Given the description of an element on the screen output the (x, y) to click on. 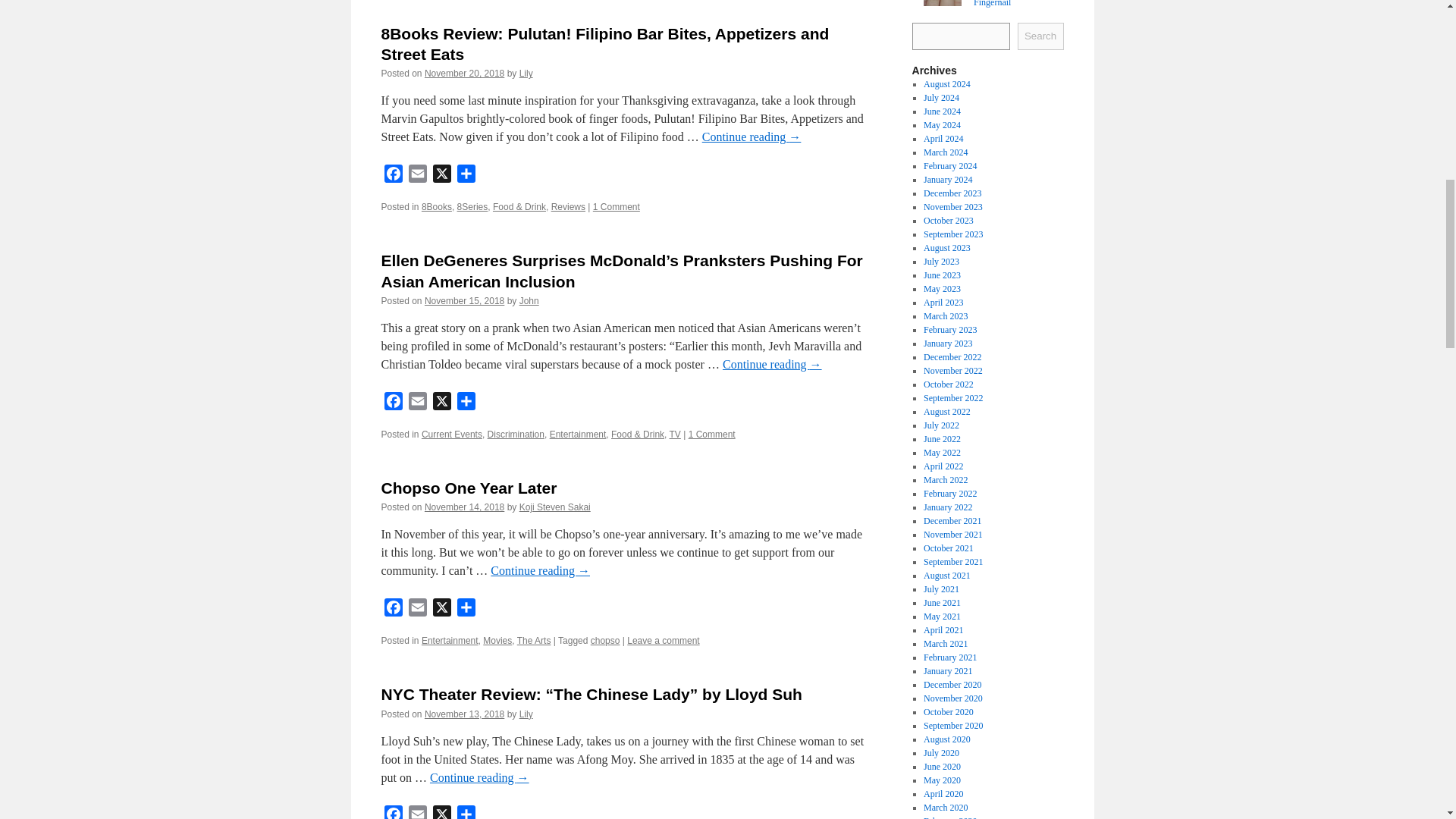
November 20, 2018 (464, 72)
11:00 am (464, 72)
Facebook (392, 176)
View all posts by John (528, 300)
11:00 am (464, 300)
Email (416, 176)
X (440, 176)
View all posts by Lily (525, 72)
